Given the description of an element on the screen output the (x, y) to click on. 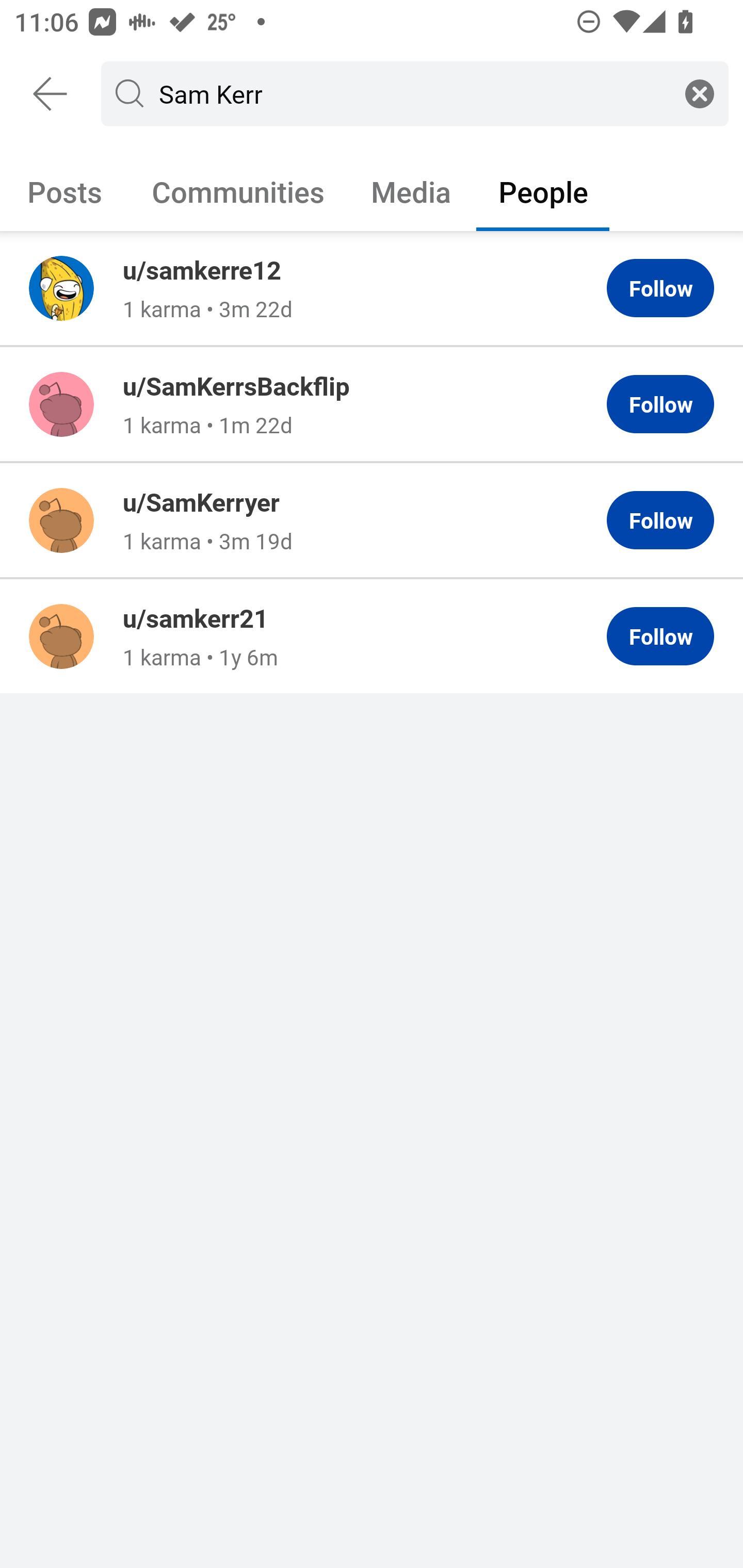
Back (50, 93)
Sam Kerr (410, 93)
Clear search (699, 93)
Posts (65, 191)
Communities (238, 191)
Media (411, 191)
Follow (660, 288)
Follow (660, 404)
Follow (660, 520)
Follow (660, 636)
